Given the description of an element on the screen output the (x, y) to click on. 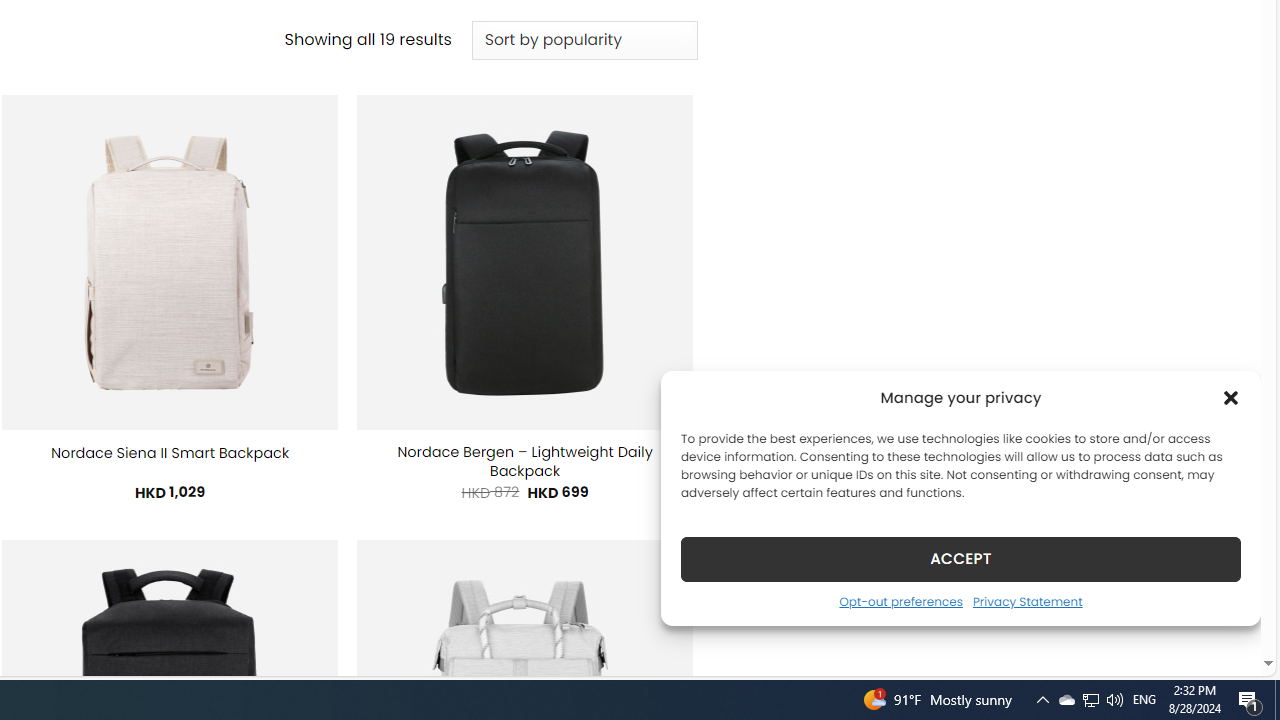
Class: cmplz-close (1231, 397)
Privacy Statement (1026, 601)
ACCEPT (960, 558)
Shop order (584, 40)
Opt-out preferences (900, 601)
Nordace Siena II Smart Backpack (169, 452)
